Given the description of an element on the screen output the (x, y) to click on. 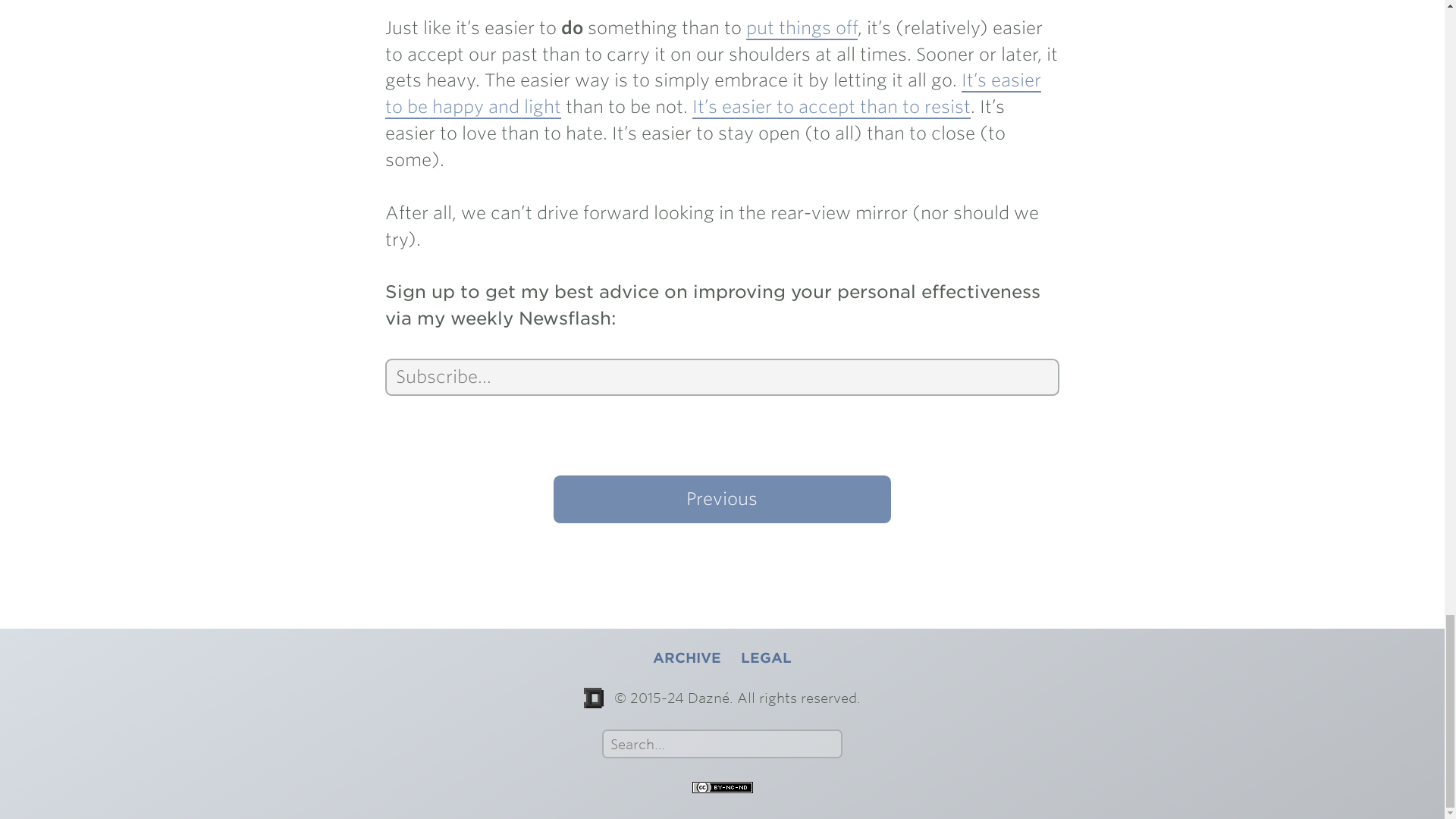
LEGAL (766, 657)
put things off (801, 28)
Previous (721, 499)
ARCHIVE (686, 657)
